Given the description of an element on the screen output the (x, y) to click on. 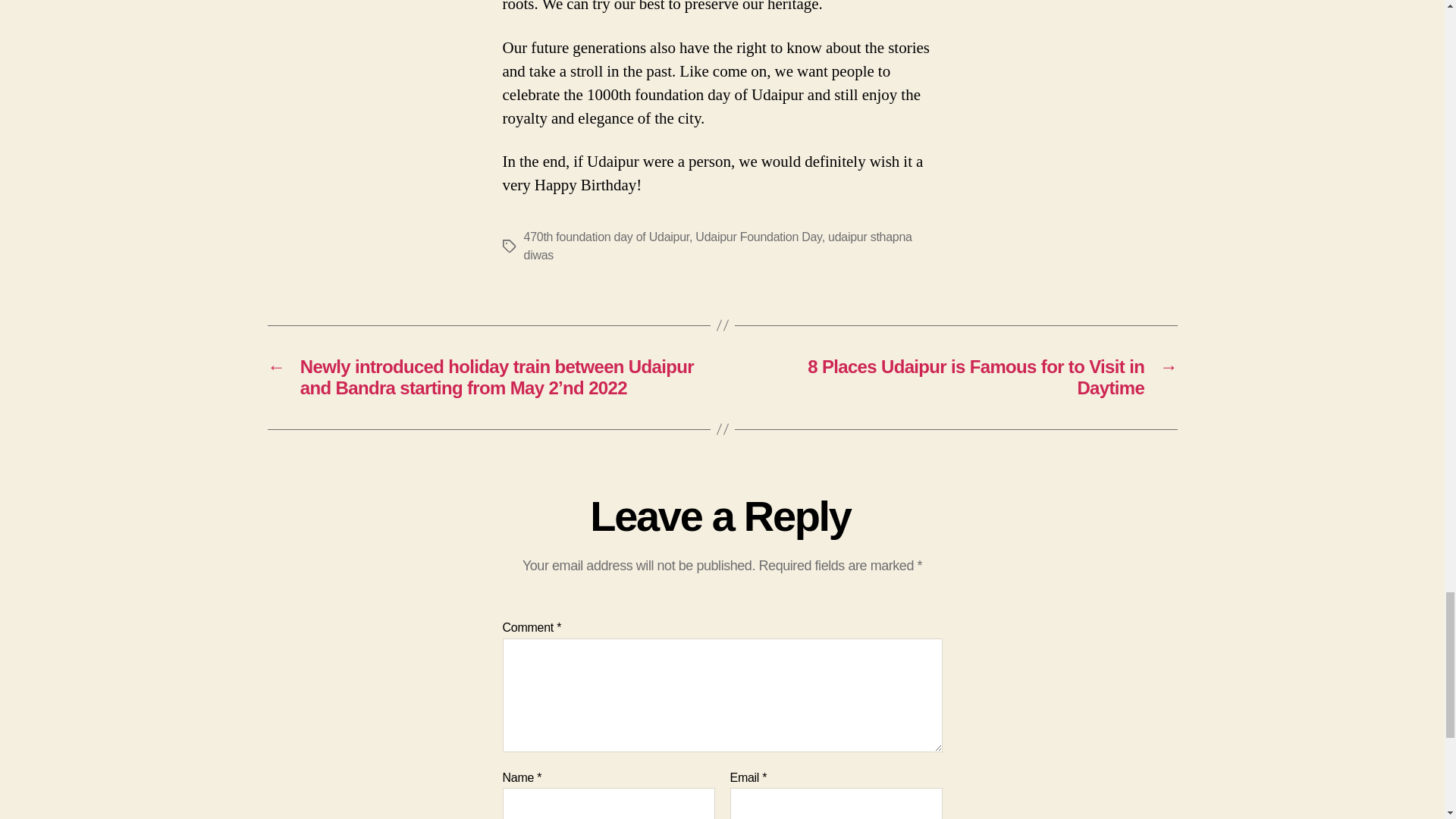
Udaipur Foundation Day (758, 236)
udaipur sthapna diwas (716, 245)
470th foundation day of Udaipur (605, 236)
